Given the description of an element on the screen output the (x, y) to click on. 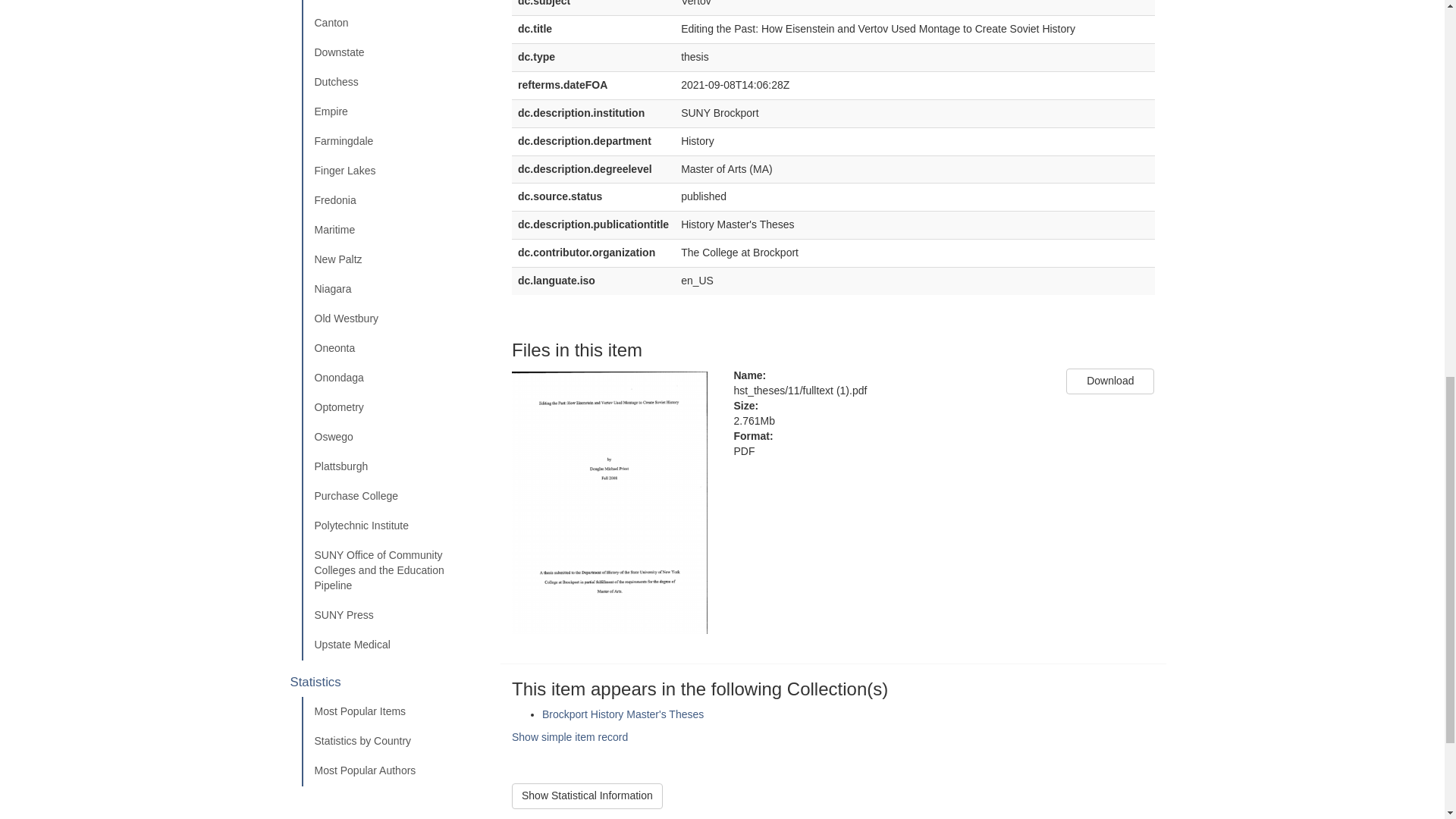
Broome (395, 4)
Dutchess (395, 82)
Downstate (395, 52)
Canton (395, 23)
